Given the description of an element on the screen output the (x, y) to click on. 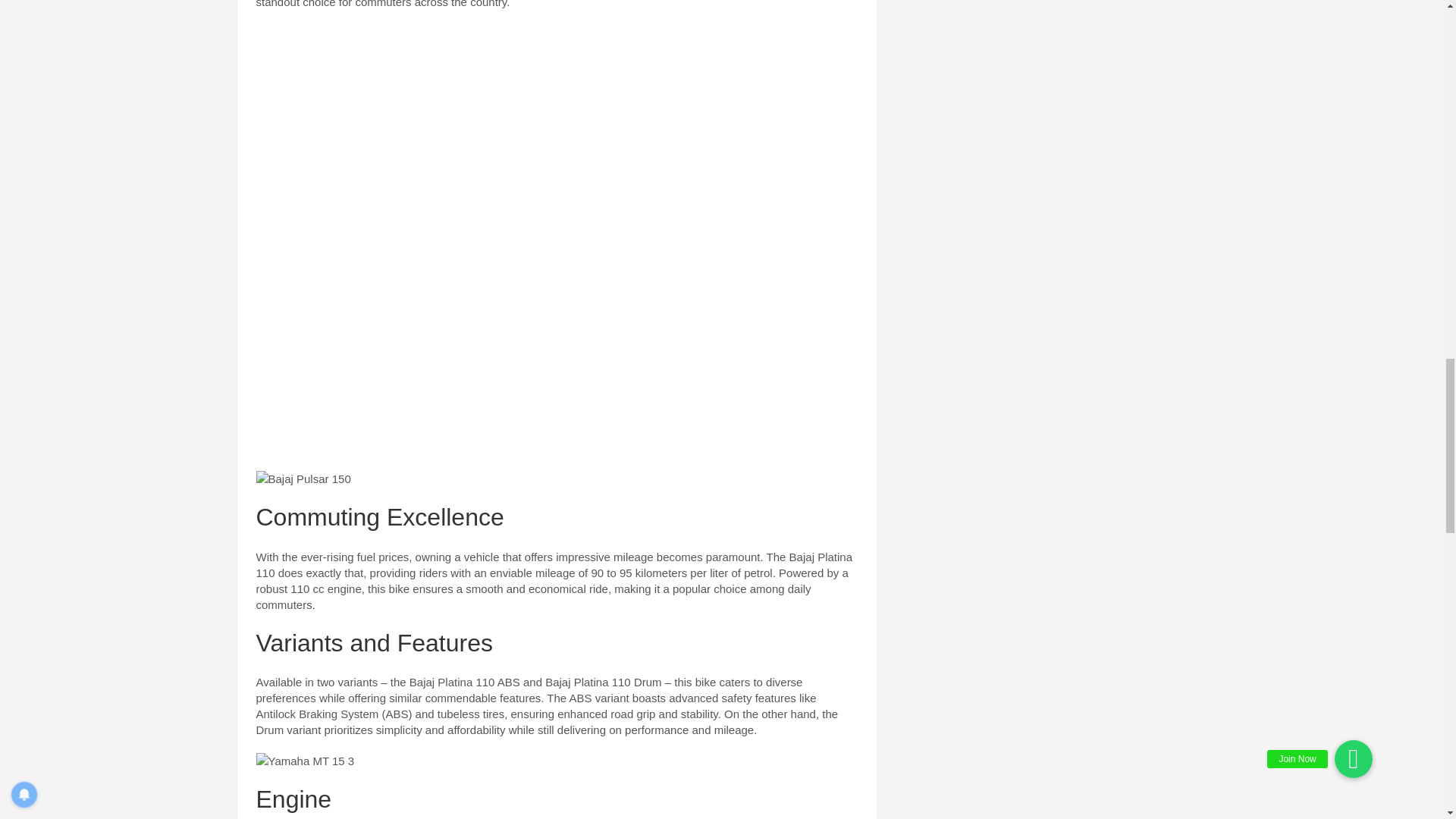
Advertisement (556, 131)
Advertisement (556, 349)
